Given the description of an element on the screen output the (x, y) to click on. 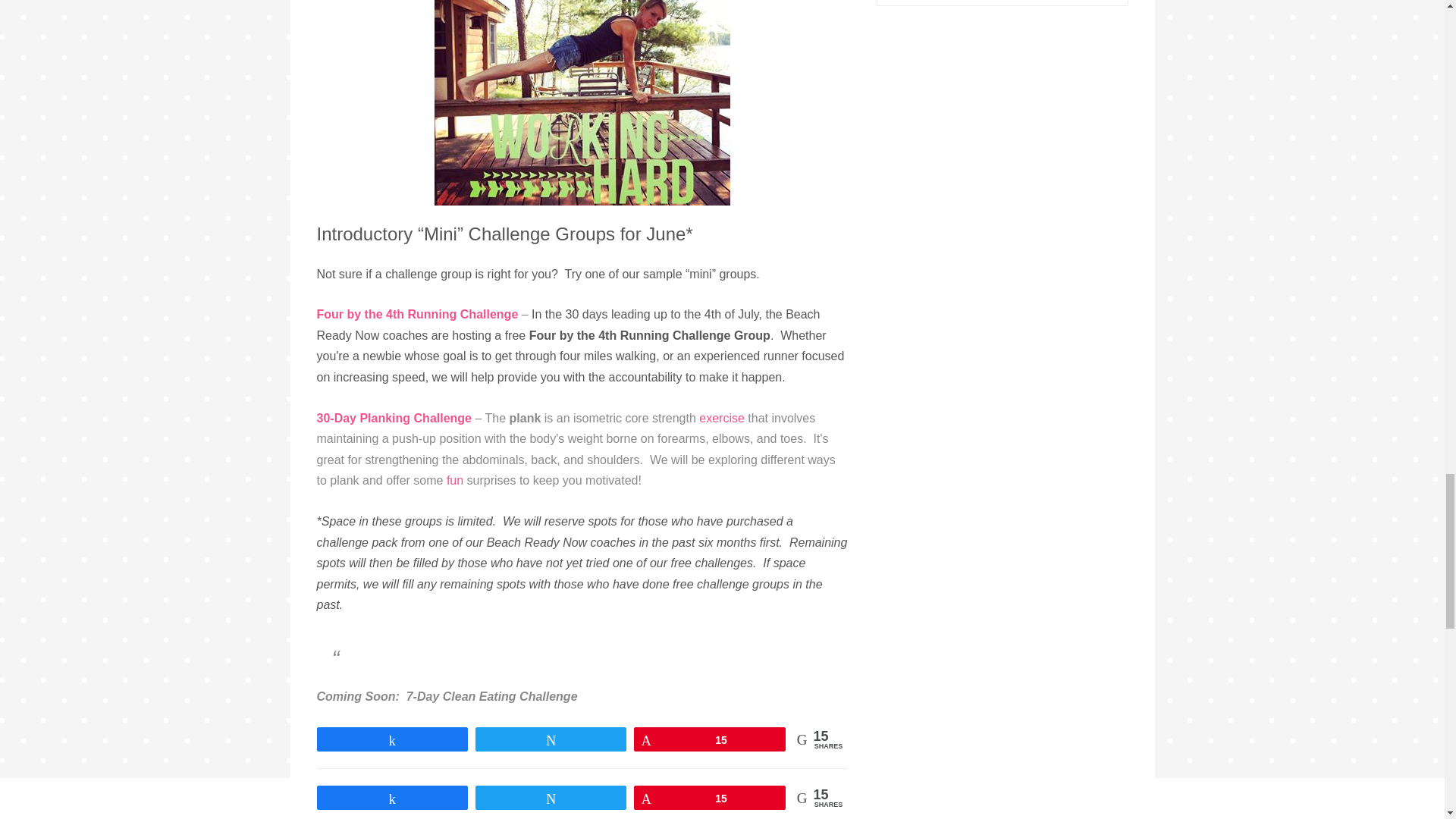
Posts tagged with exercise (721, 418)
Posts tagged with fun (454, 480)
